Given the description of an element on the screen output the (x, y) to click on. 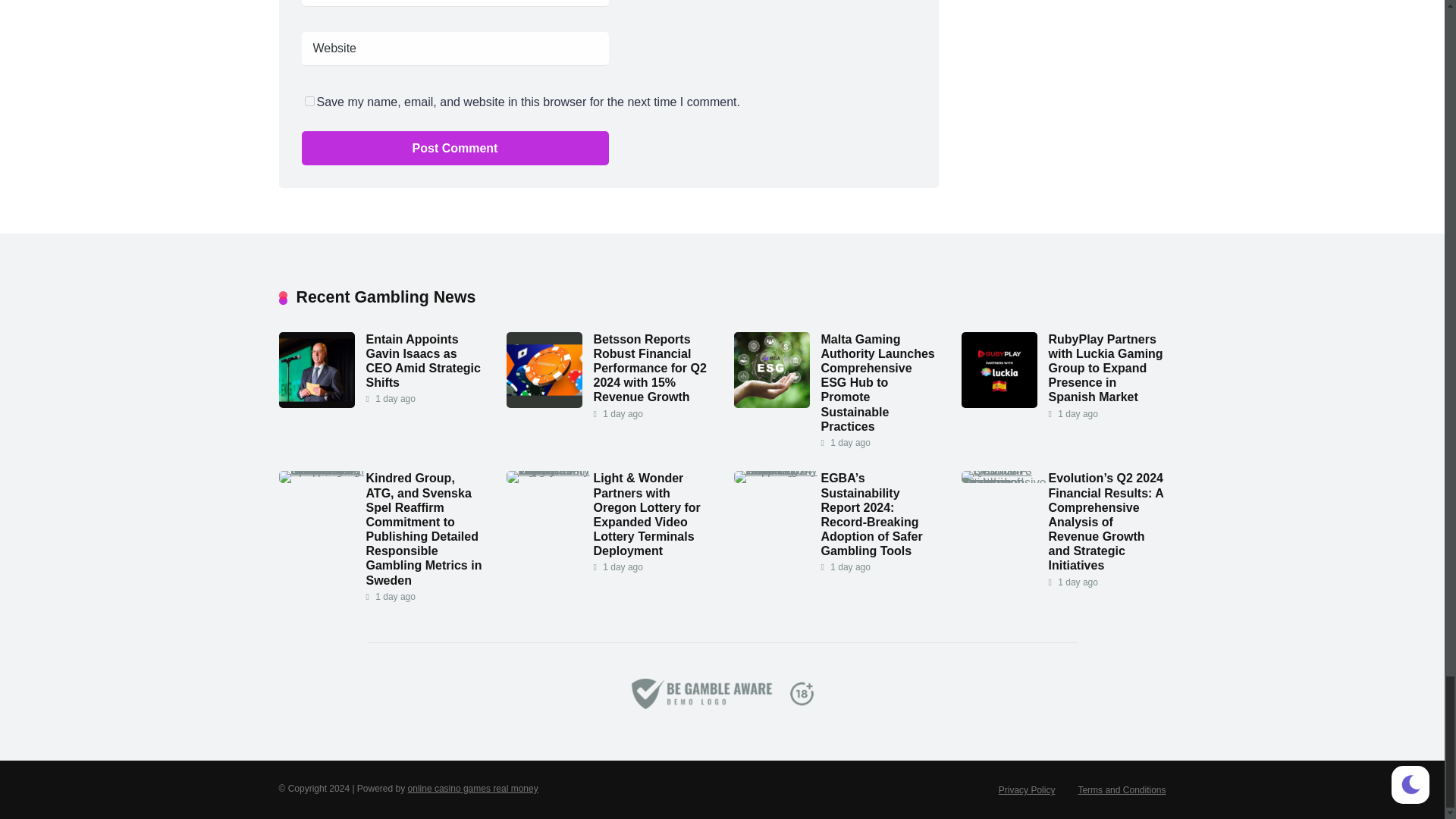
Post Comment (454, 148)
yes (309, 101)
Post Comment (454, 148)
